Given the description of an element on the screen output the (x, y) to click on. 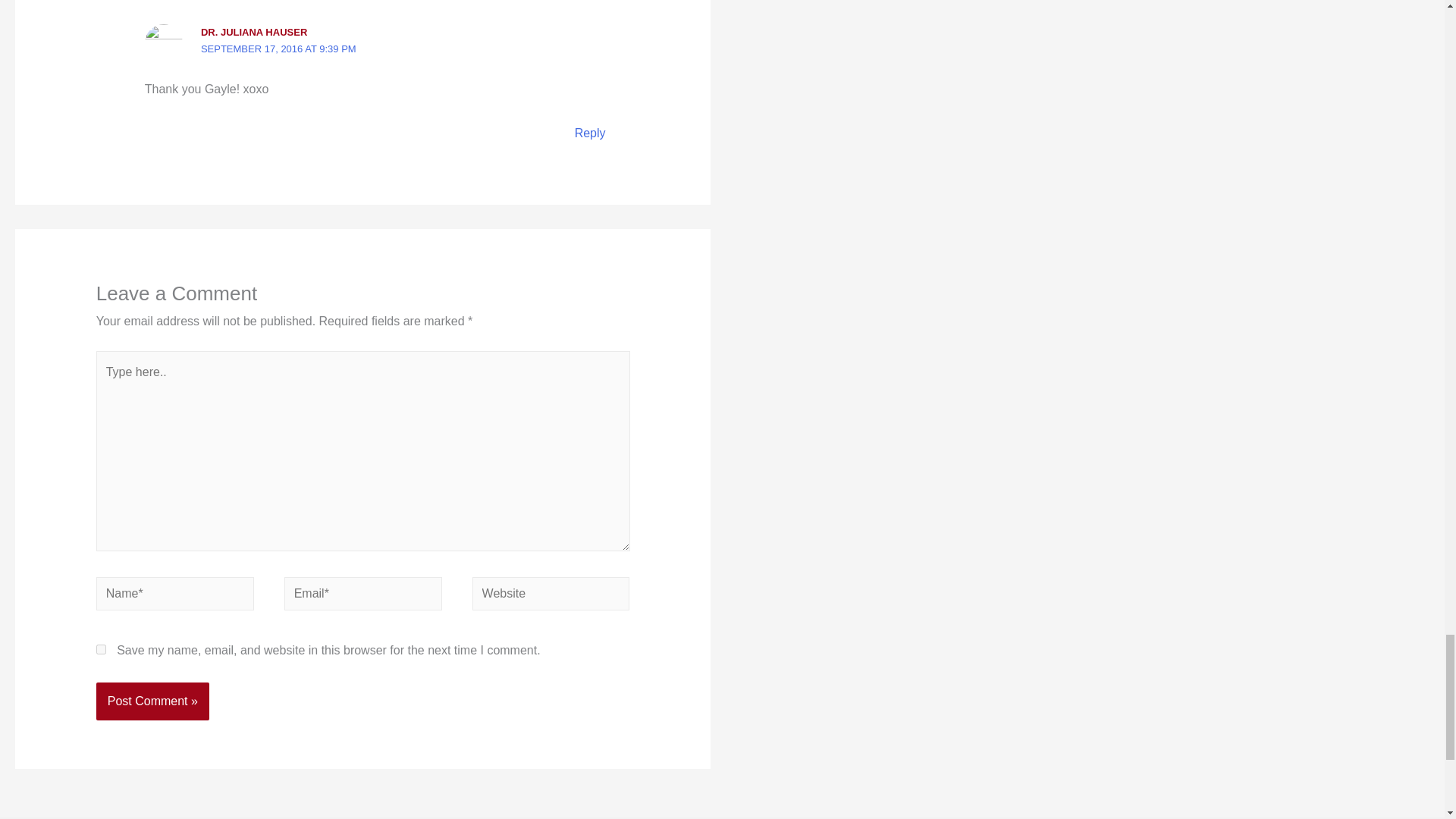
yes (101, 649)
